Given the description of an element on the screen output the (x, y) to click on. 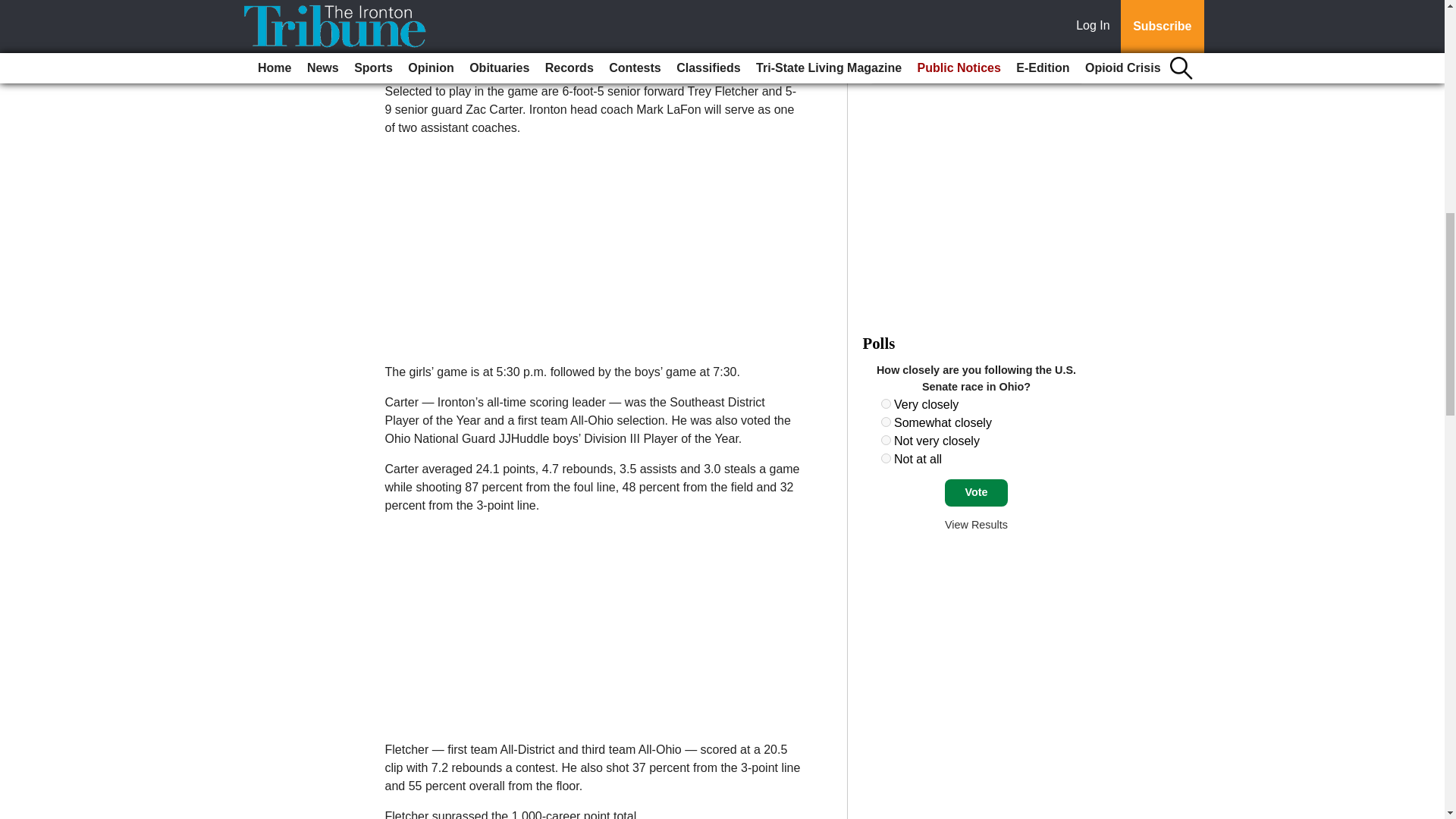
How to Watch (921, 29)
Power Rankings (999, 29)
1432 (885, 403)
Tickets (908, 49)
View Results Of This Poll (975, 524)
1433 (885, 421)
1434 (885, 439)
View Results (975, 524)
   Vote    (975, 492)
1435 (885, 458)
